Given the description of an element on the screen output the (x, y) to click on. 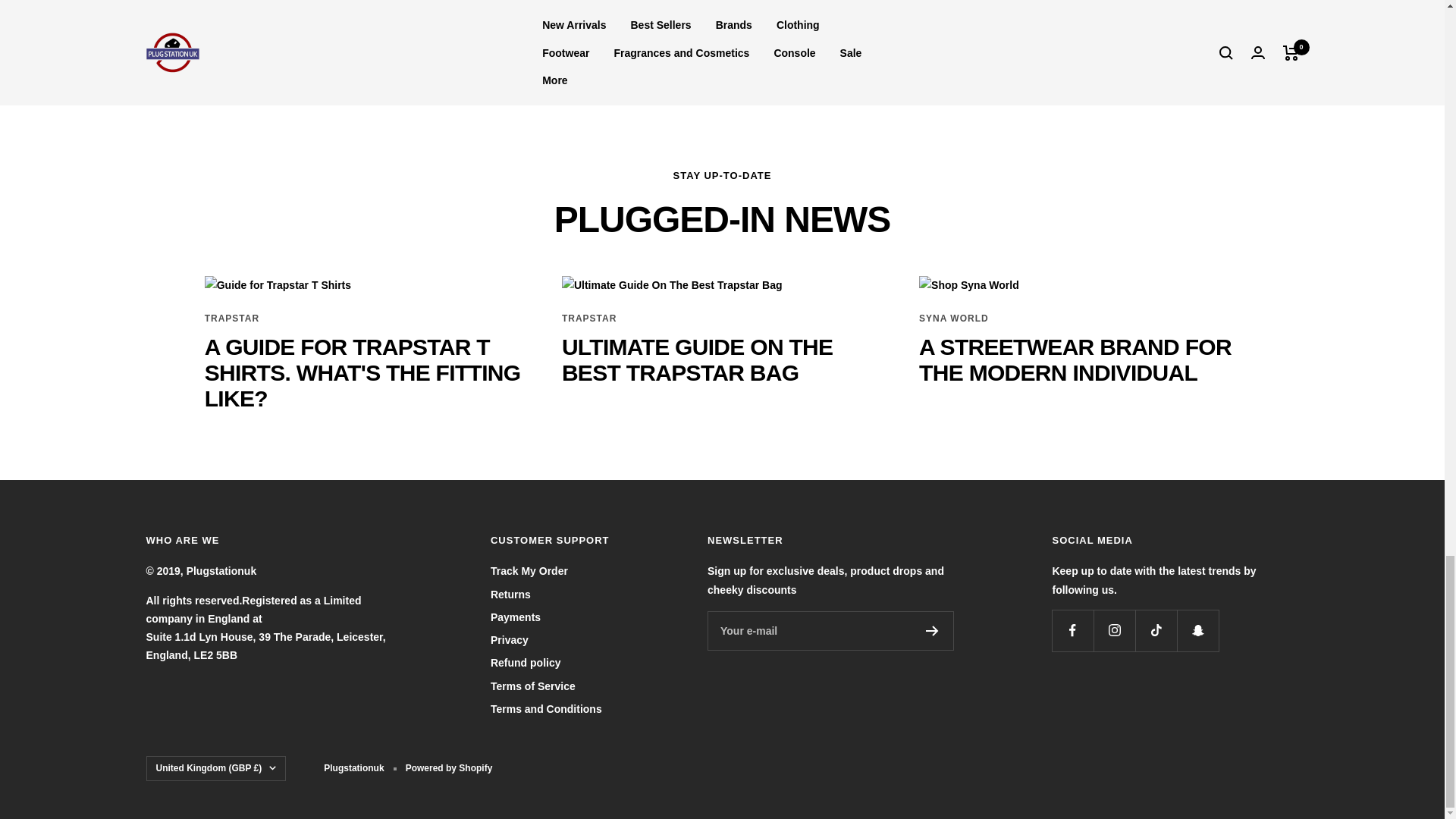
Register (932, 630)
